Given the description of an element on the screen output the (x, y) to click on. 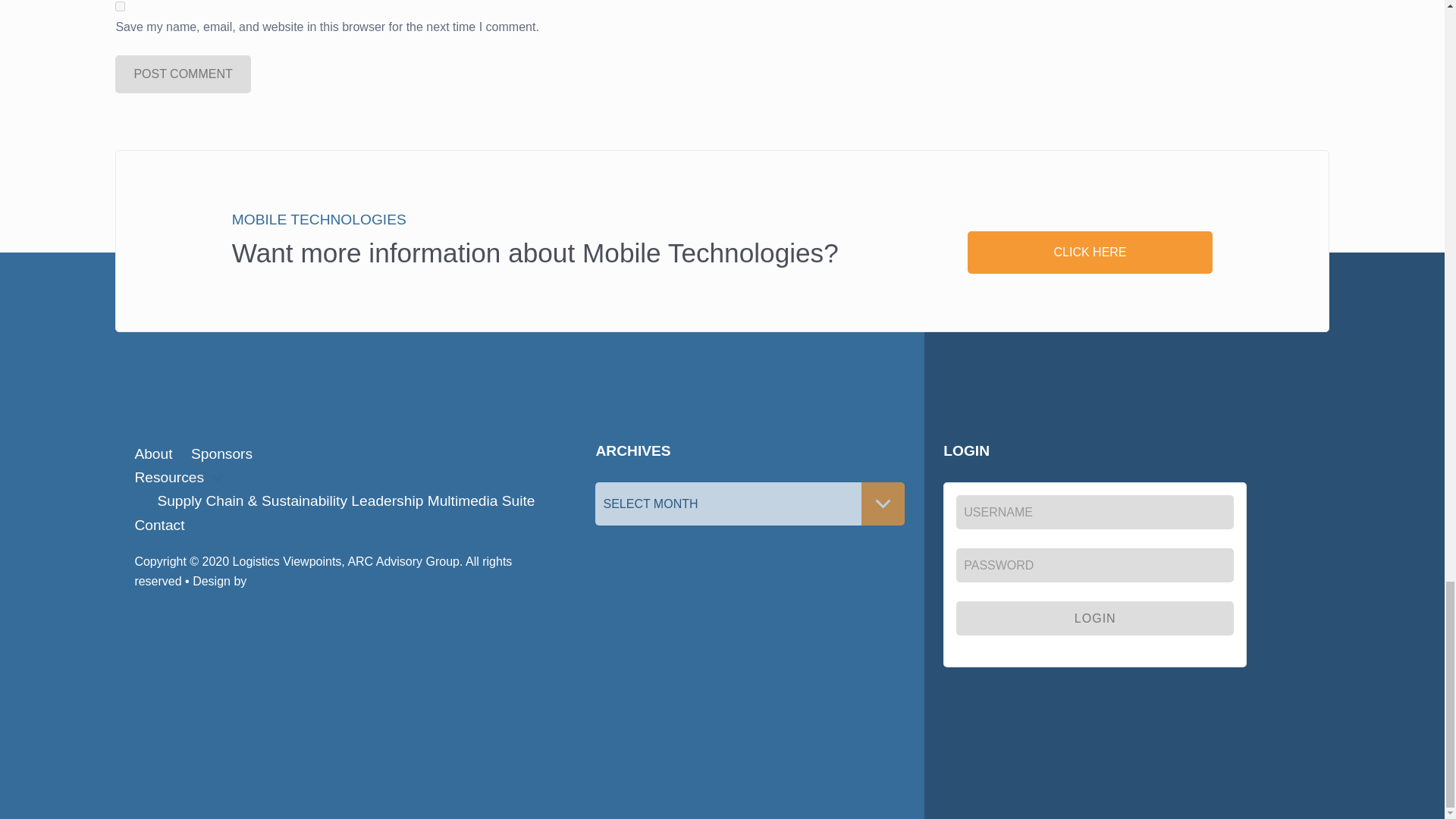
Please enter password (1094, 564)
yes (120, 6)
Post Comment (182, 74)
Please enter username (1094, 512)
Login (1094, 618)
